Given the description of an element on the screen output the (x, y) to click on. 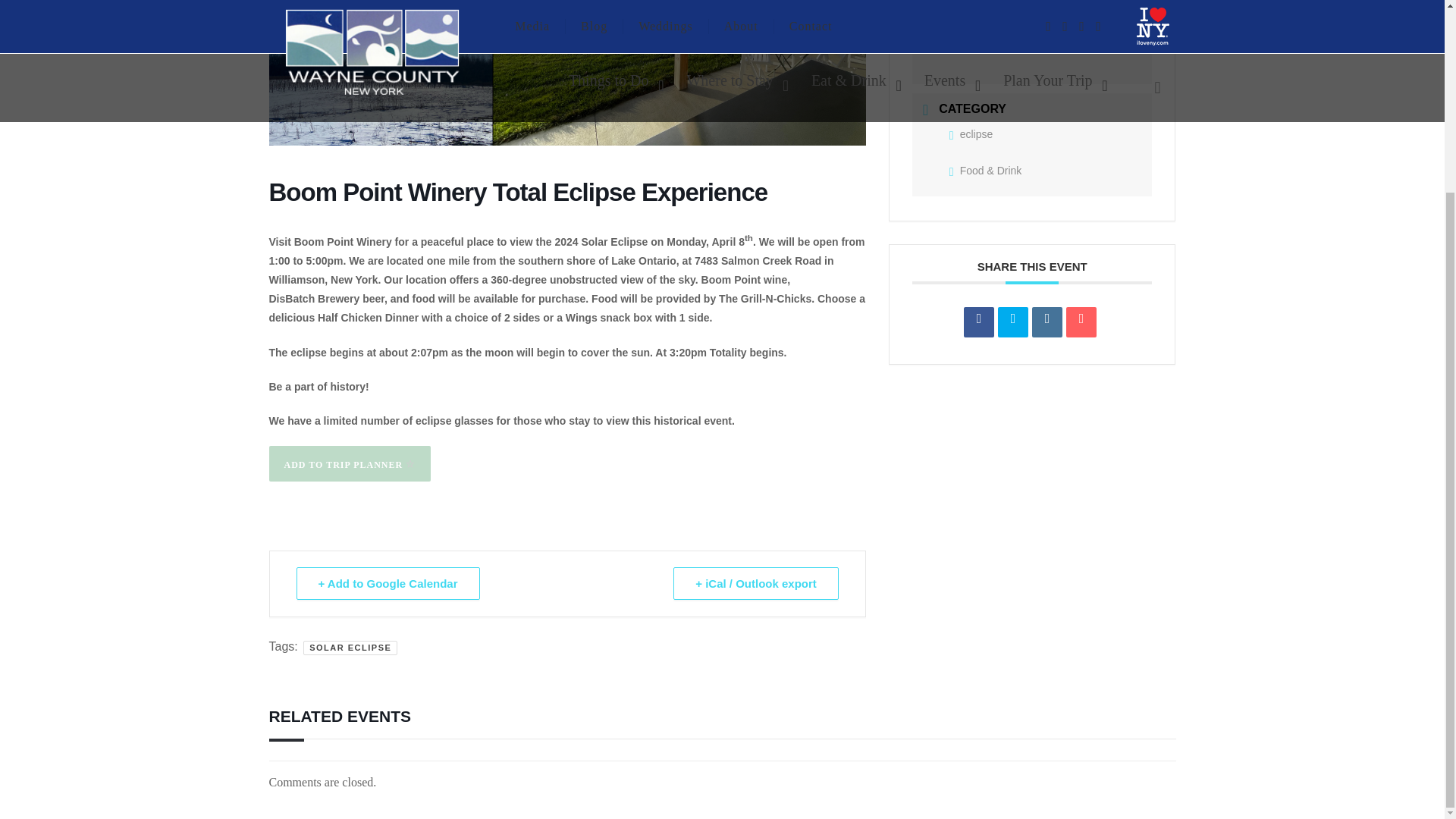
Tweet (1012, 322)
Linkedin (1047, 322)
Share on Facebook (978, 322)
Email (1080, 322)
